Given the description of an element on the screen output the (x, y) to click on. 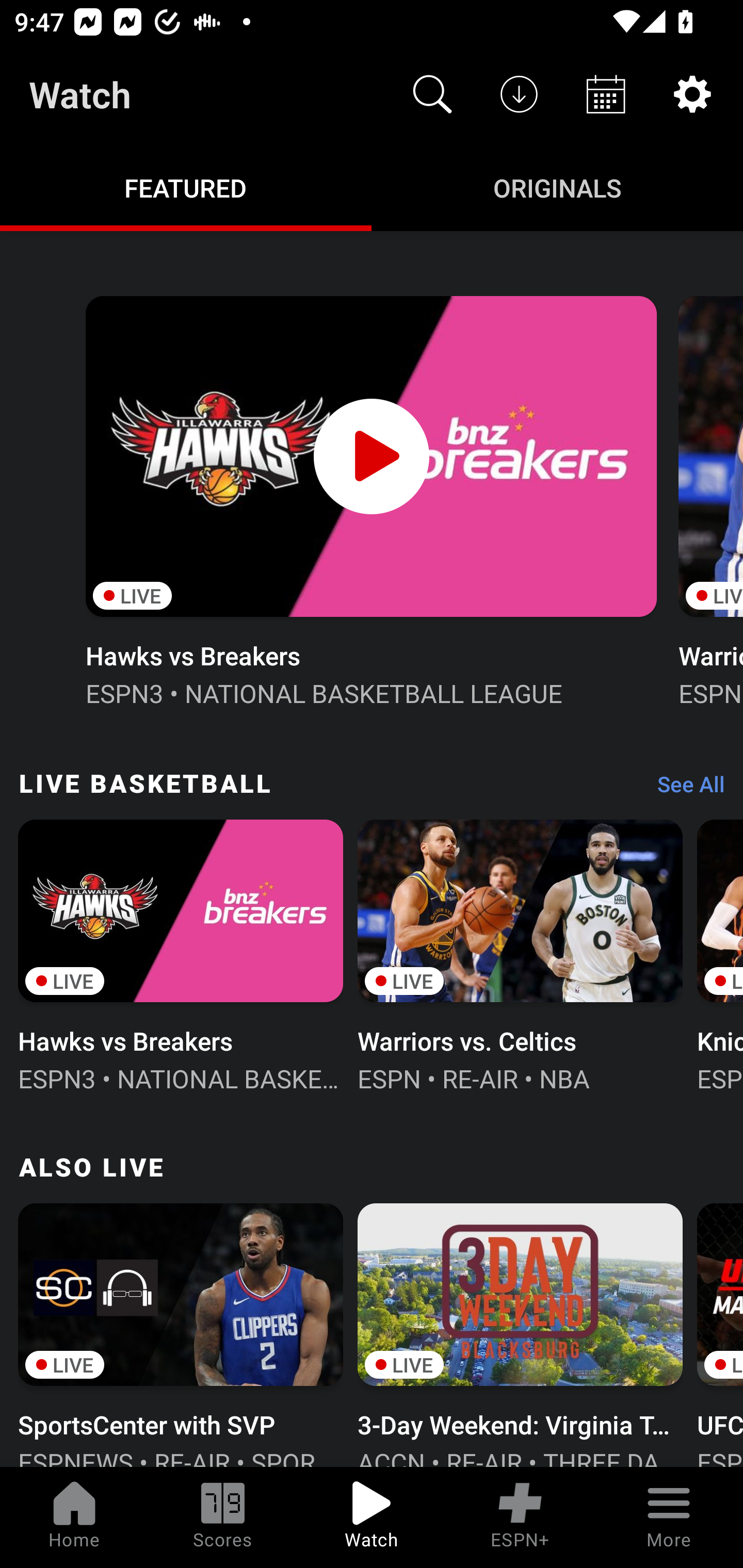
Search (432, 93)
Downloads (518, 93)
Schedule (605, 93)
Settings (692, 93)
Originals ORIGINALS (557, 187)
See All (683, 788)
LIVE Warriors vs. Celtics ESPN • RE-AIR • NBA (519, 954)
Home (74, 1517)
Scores (222, 1517)
ESPN+ (519, 1517)
More (668, 1517)
